Given the description of an element on the screen output the (x, y) to click on. 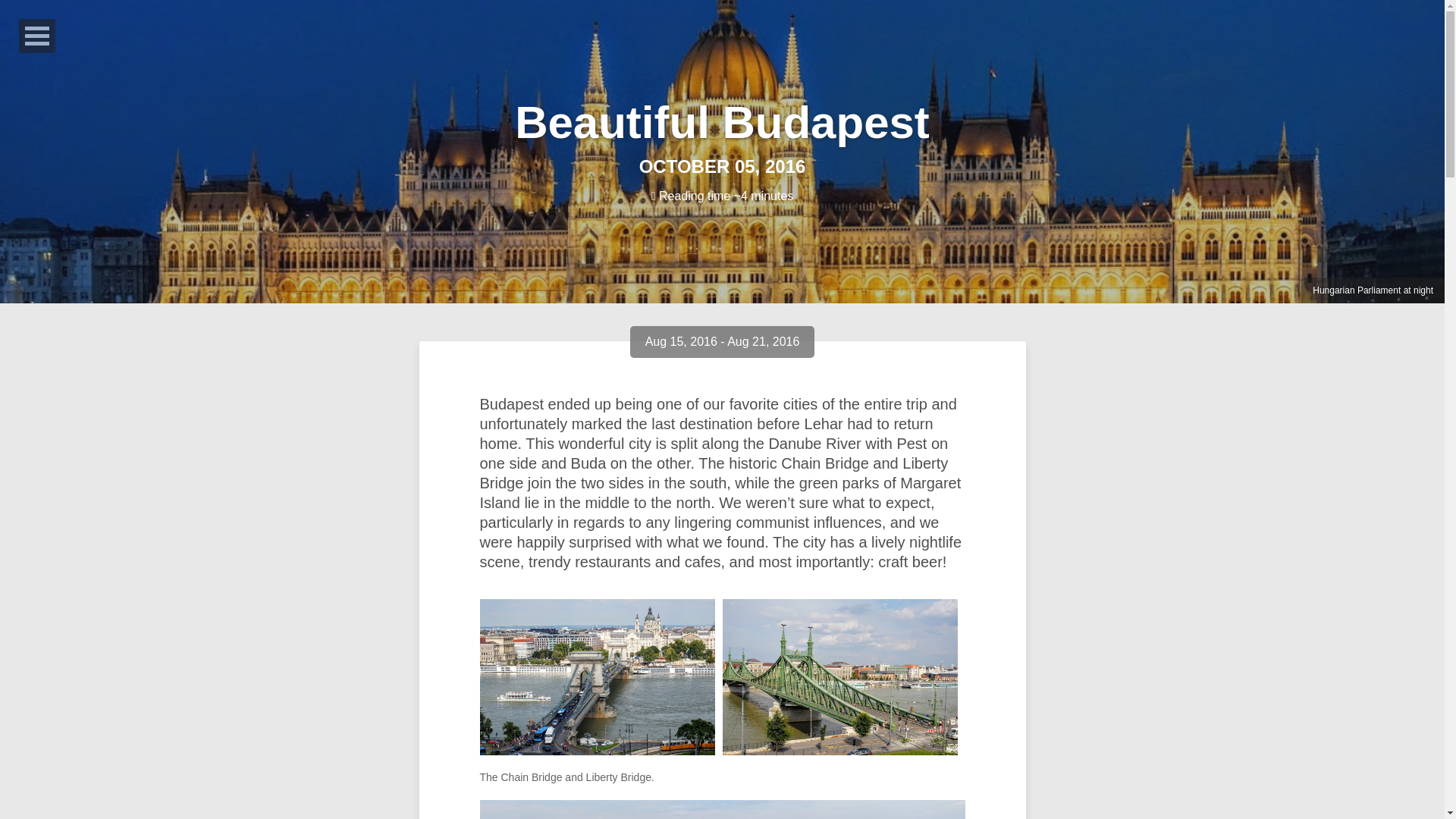
Beautiful Budapest (722, 122)
Open Menu (36, 35)
Beautiful Budapest (722, 122)
